Given the description of an element on the screen output the (x, y) to click on. 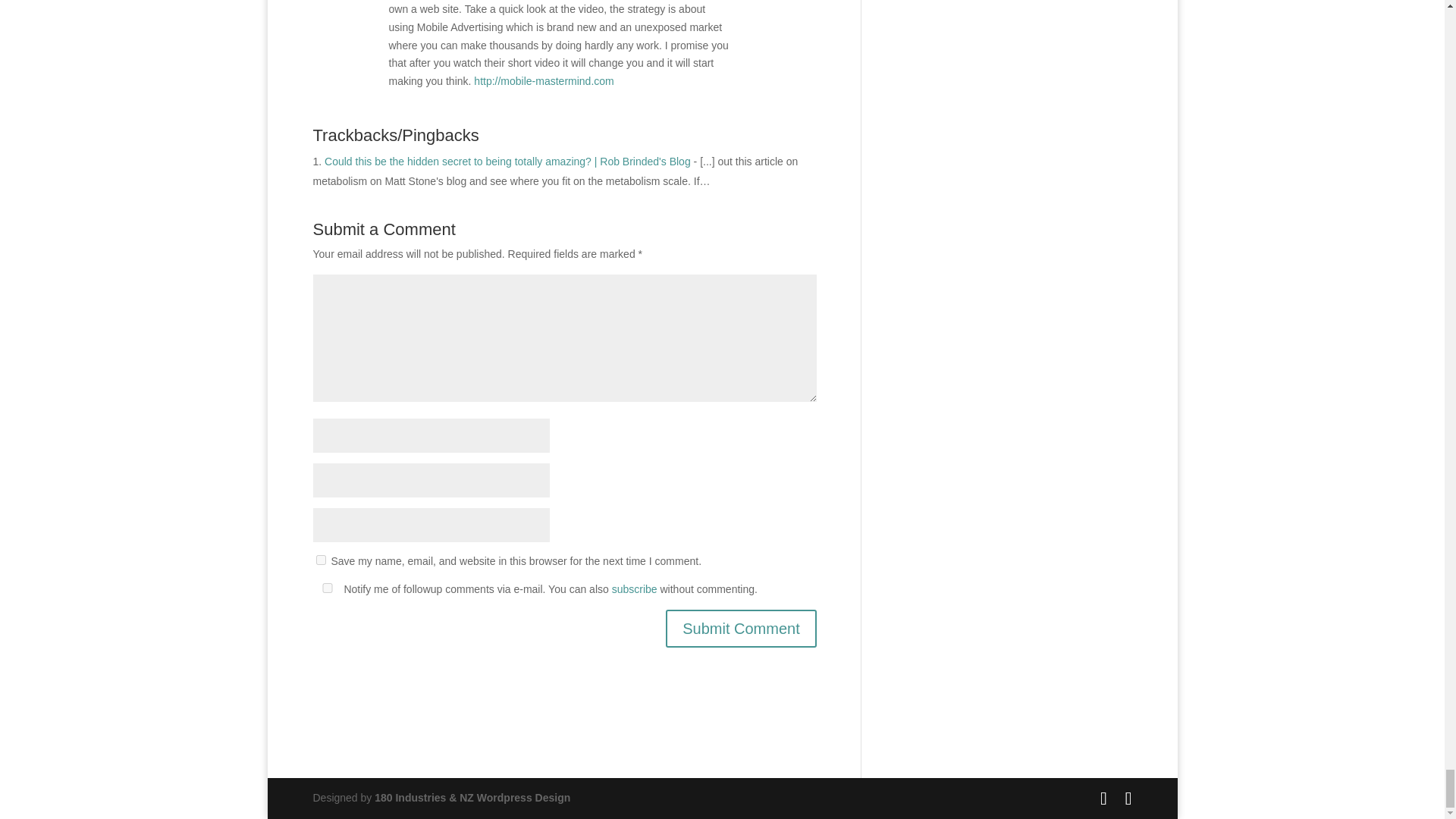
yes (326, 587)
yes (319, 560)
NZ Wordpress Design (472, 797)
Submit Comment (740, 628)
